Given the description of an element on the screen output the (x, y) to click on. 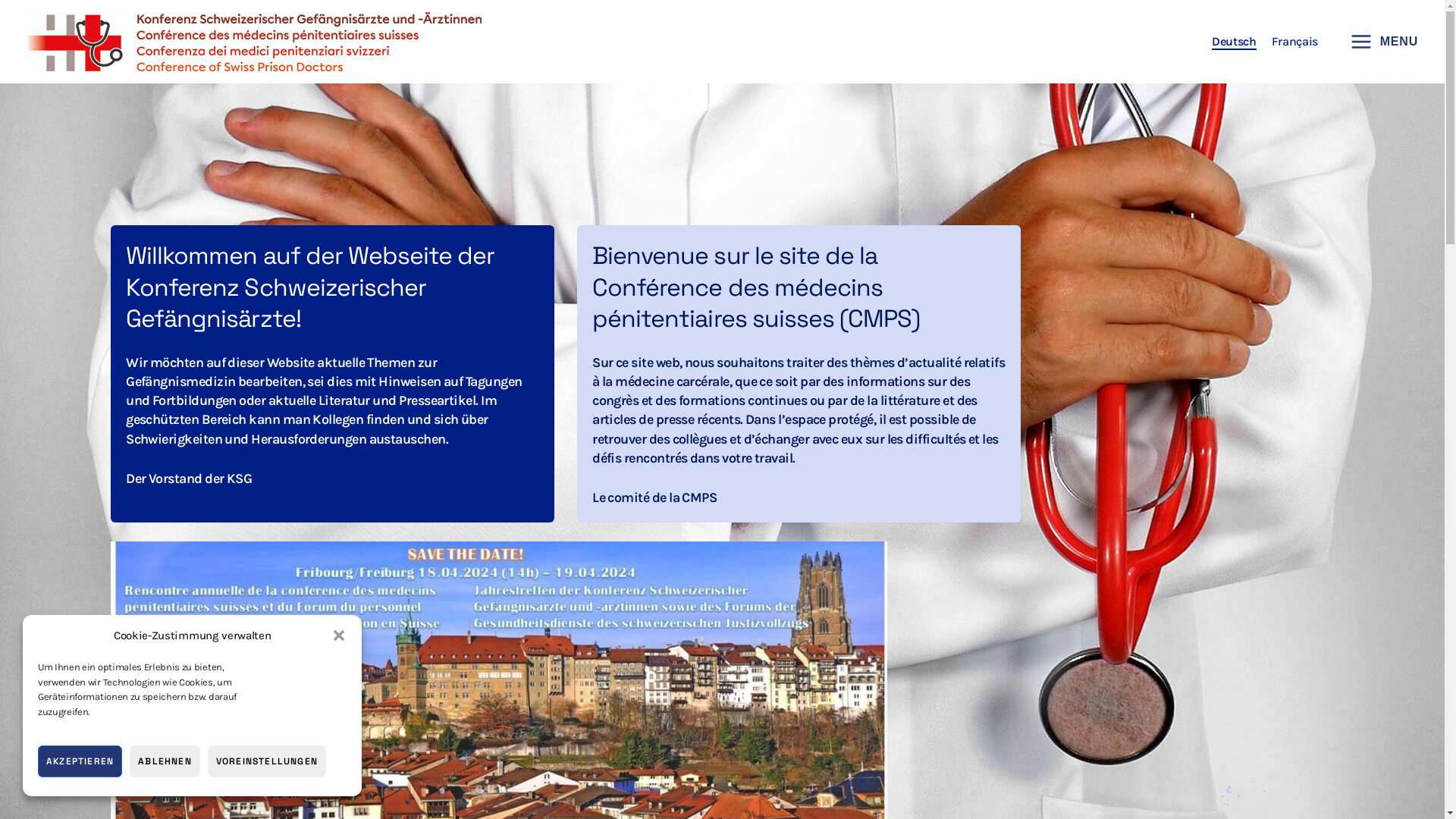
AKZEPTIEREN Element type: text (79, 761)
ABLEHNEN Element type: text (164, 761)
VOREINSTELLUNGEN Element type: text (266, 761)
Deutsch Element type: text (1233, 41)
MAIN MENU
MENU Element type: text (1379, 41)
